Given the description of an element on the screen output the (x, y) to click on. 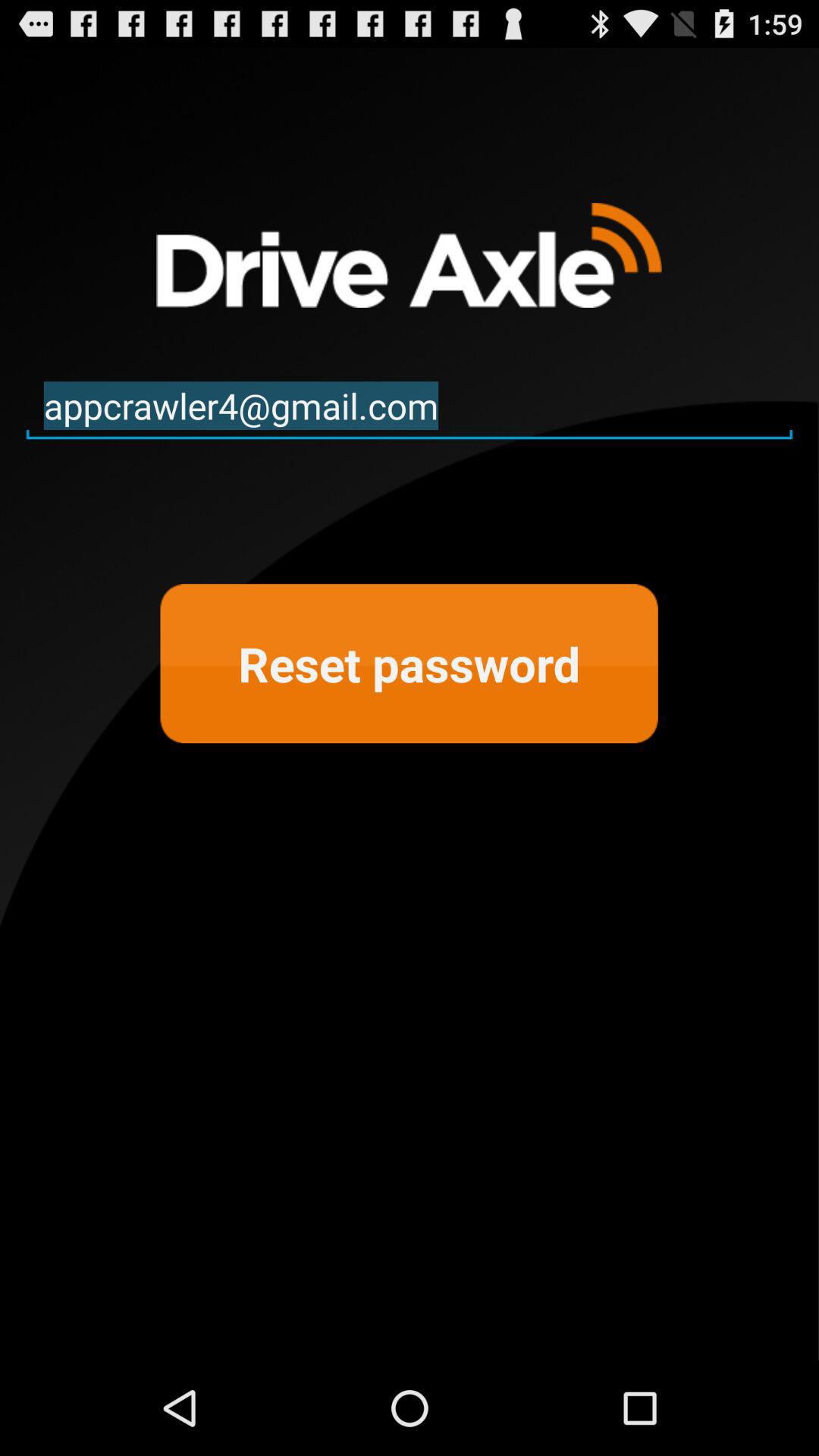
press appcrawler4@gmail.com icon (409, 406)
